Given the description of an element on the screen output the (x, y) to click on. 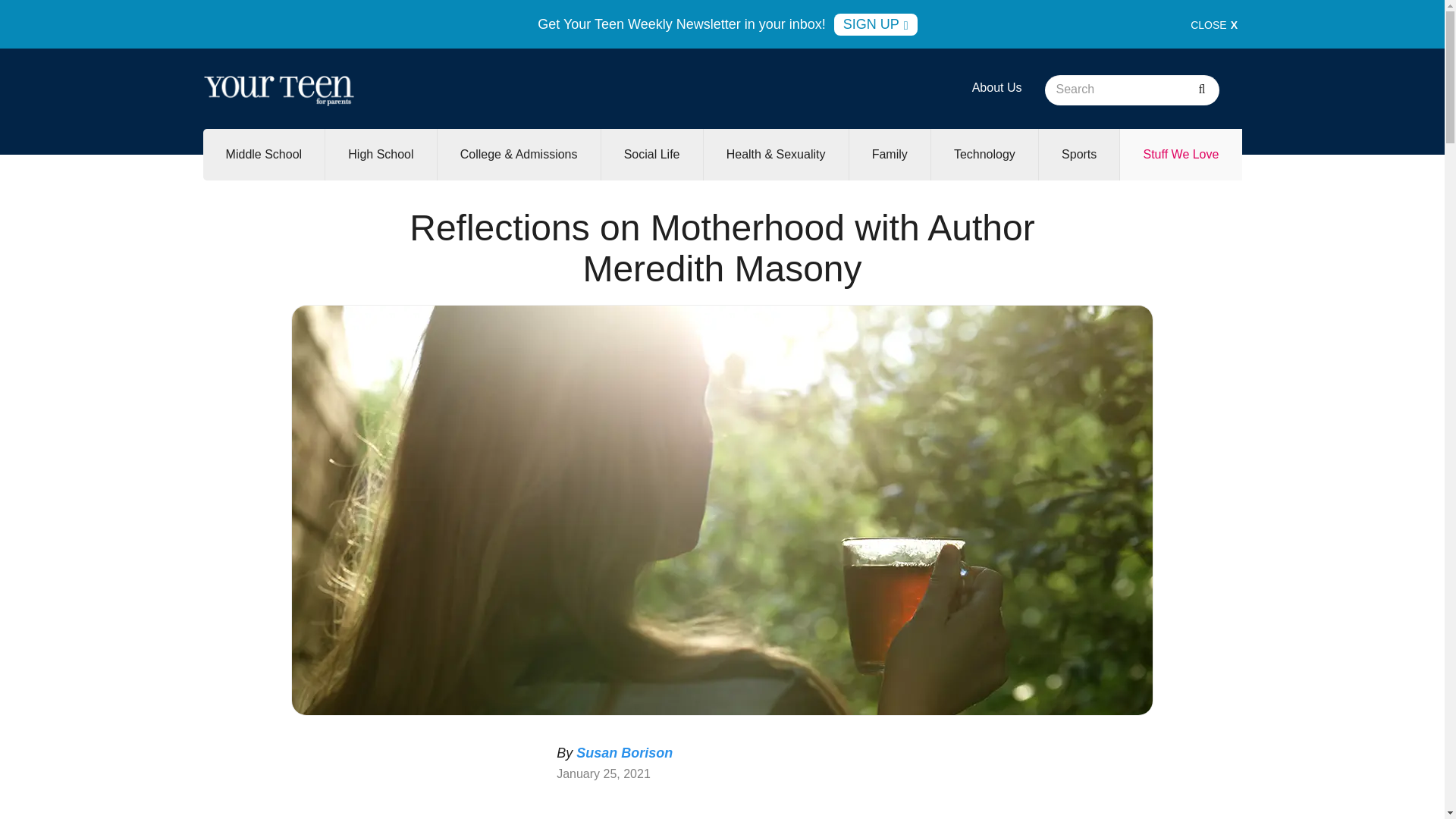
Stuff We Love (1180, 154)
Search (1201, 90)
Technology (984, 154)
About Us (997, 87)
High School (379, 154)
Social Life (652, 154)
Family (889, 154)
CLOSE (1214, 24)
Middle School (263, 154)
Sports (1079, 154)
SIGN UP (875, 24)
